Given the description of an element on the screen output the (x, y) to click on. 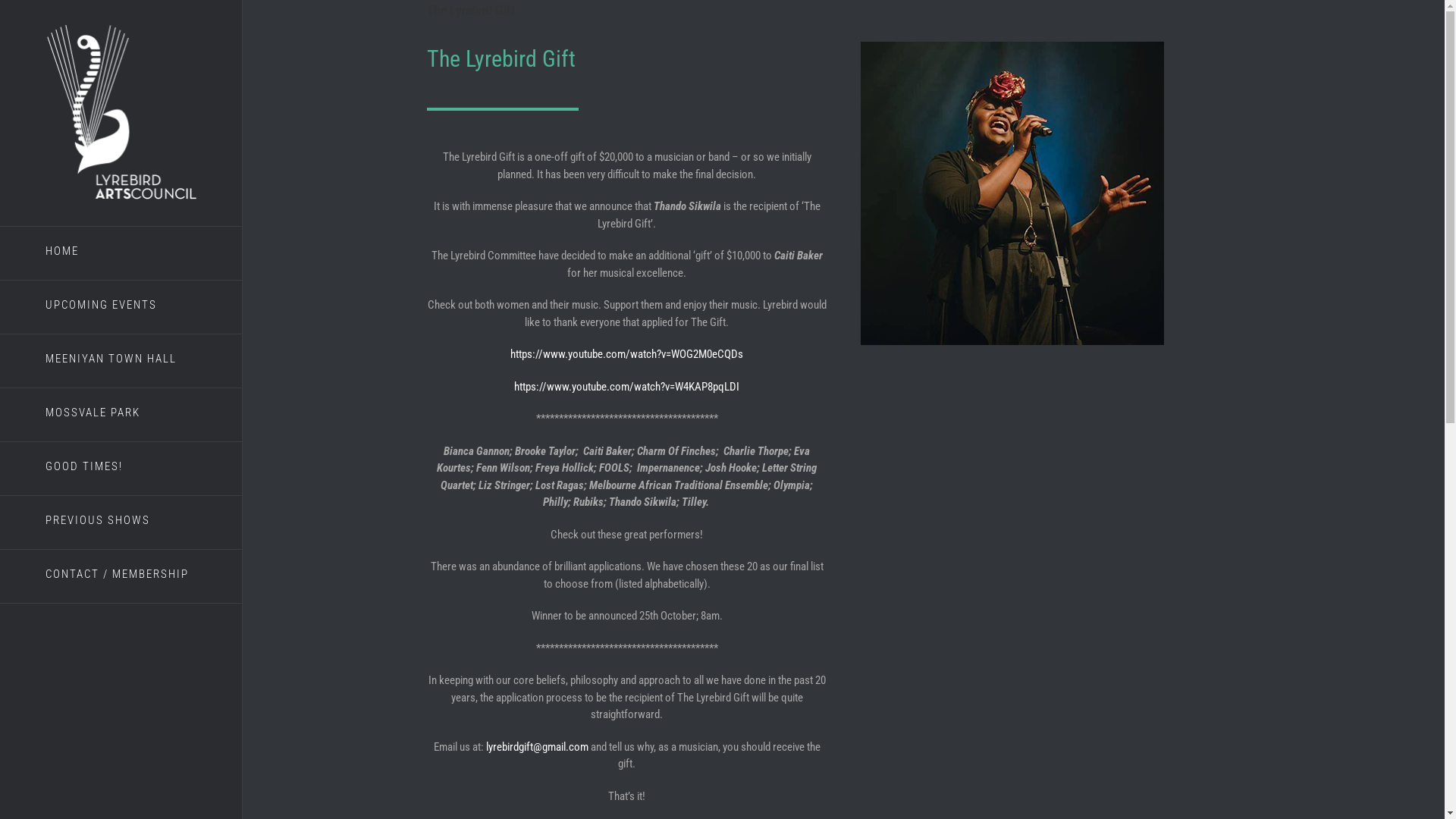
PREVIOUS SHOWS Element type: text (121, 522)
MOSSVALE PARK Element type: text (121, 415)
GOOD TIMES! Element type: text (121, 468)
https://www.youtube.com/watch?v=W4KAP8pqLDI Element type: text (626, 385)
UPCOMING EVENTS Element type: text (121, 307)
CONTACT / MEMBERSHIP Element type: text (121, 576)
https://www.youtube.com/watch?v=WOG2M0eCQDs Element type: text (626, 353)
lyrebirdgift@gmail.com Element type: text (536, 746)
HOME Element type: text (121, 252)
MEENIYAN TOWN HALL Element type: text (121, 361)
